Given the description of an element on the screen output the (x, y) to click on. 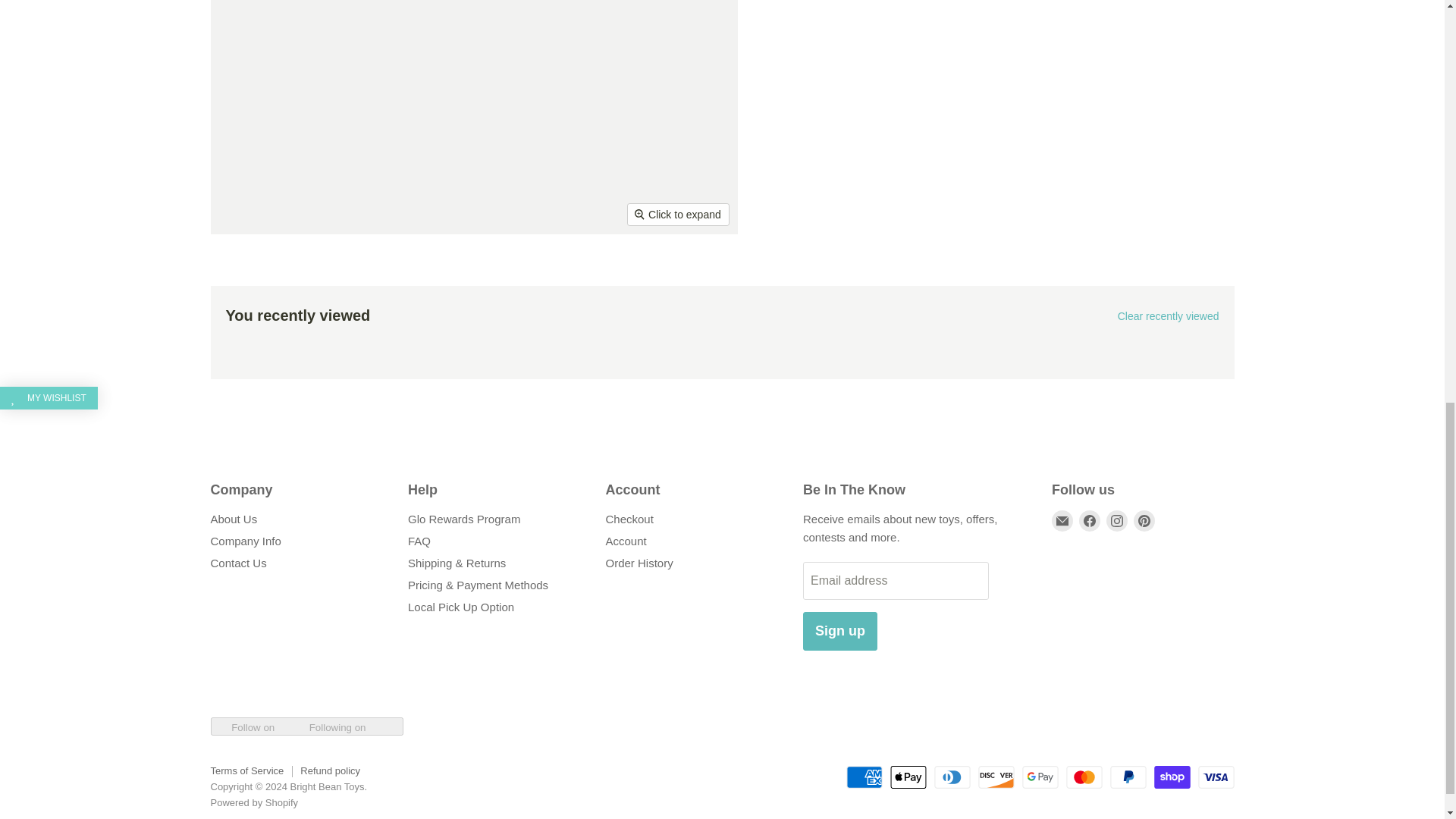
Email (1062, 520)
Instagram (1116, 520)
Pinterest (1144, 520)
Facebook (1089, 520)
